Given the description of an element on the screen output the (x, y) to click on. 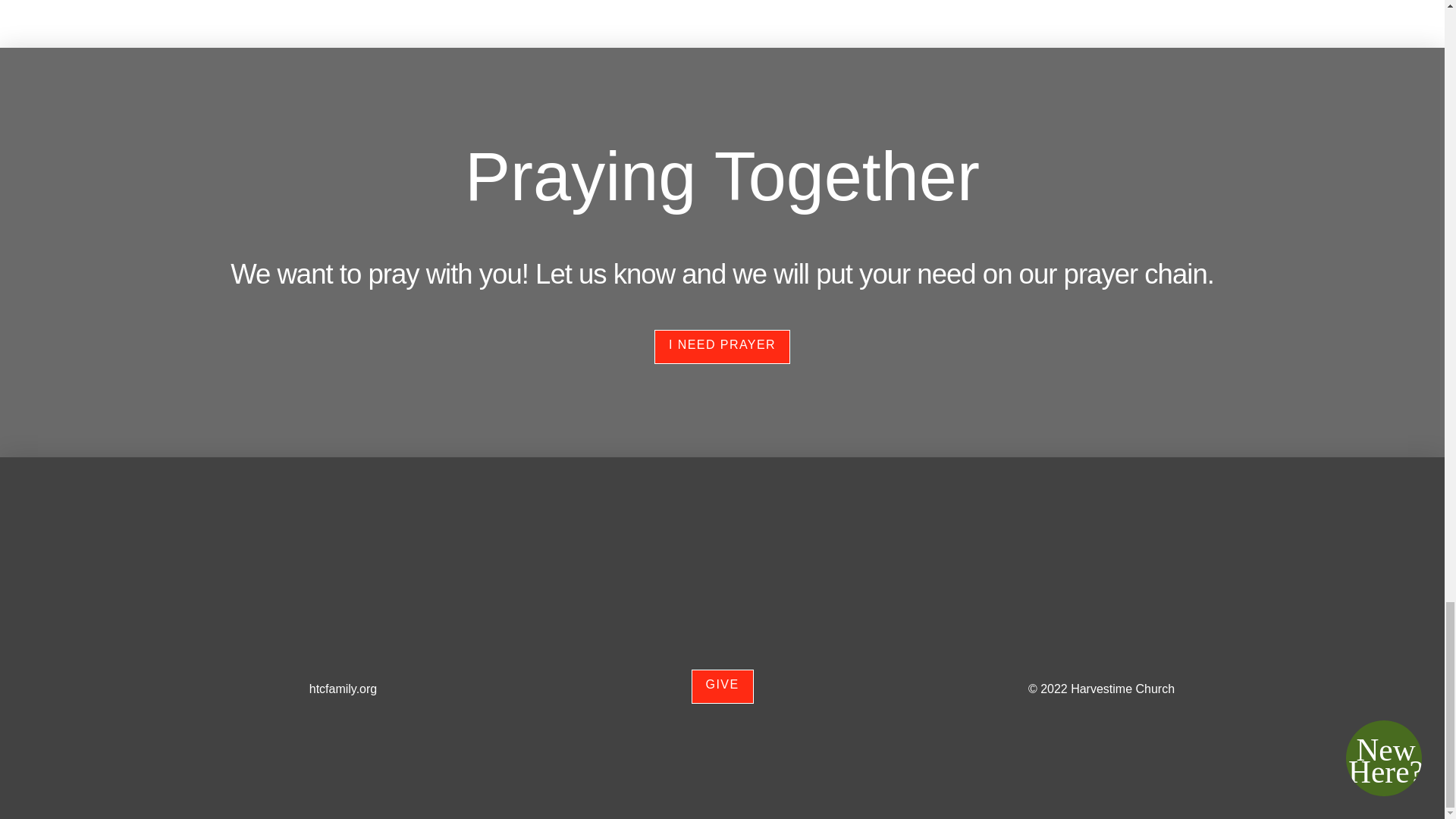
GIVE (722, 686)
Prayer Request (721, 346)
I NEED PRAYER (721, 346)
